Given the description of an element on the screen output the (x, y) to click on. 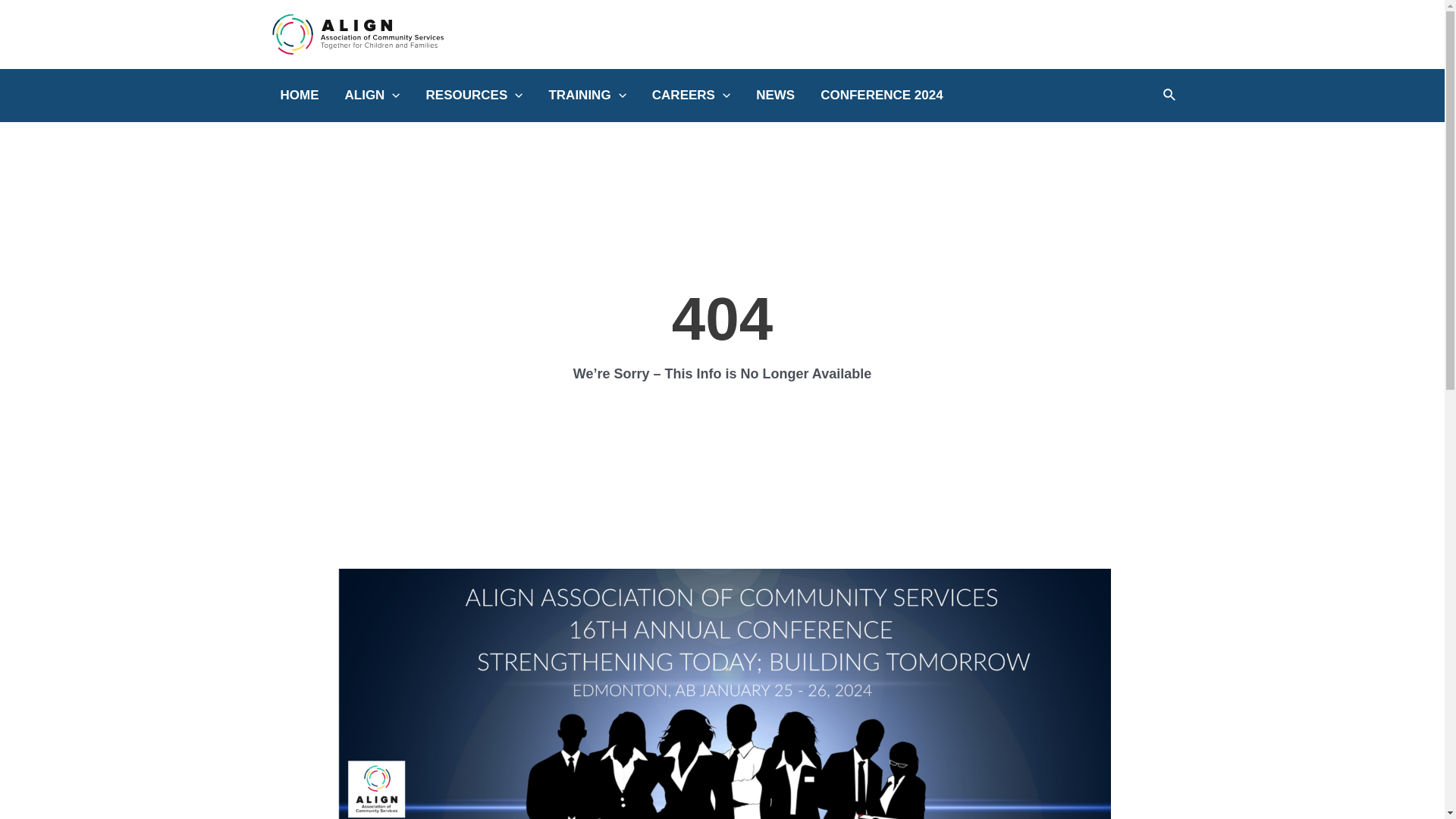
NEWS Element type: text (775, 95)
HOME Element type: text (298, 95)
RESOURCES Element type: text (474, 95)
TRAINING Element type: text (586, 95)
CONFERENCE 2024 Element type: text (881, 95)
ALIGN Element type: text (372, 95)
CAREERS Element type: text (691, 95)
